Given the description of an element on the screen output the (x, y) to click on. 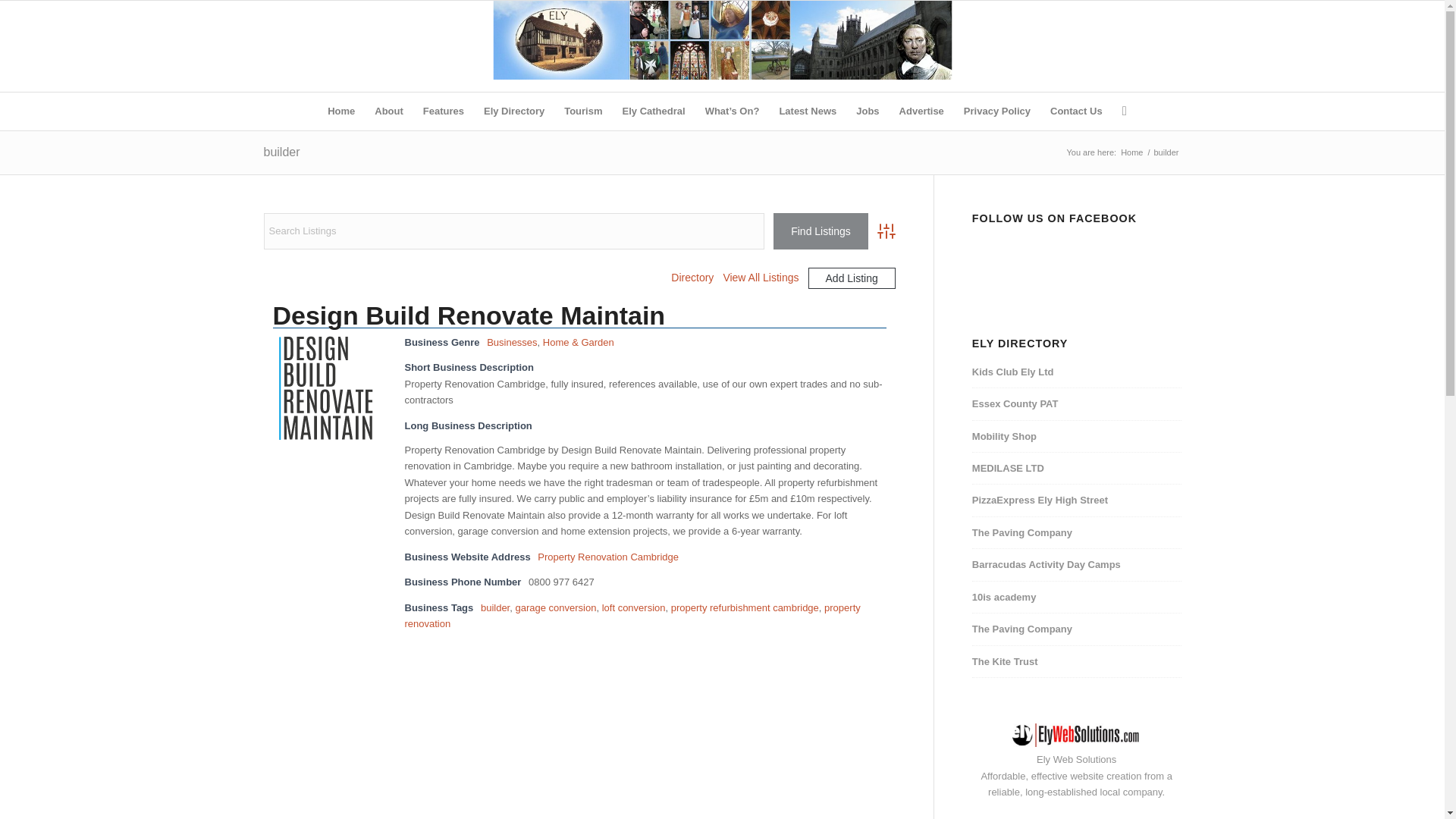
About (389, 111)
Permanent Link: builder (281, 151)
Ely Online - Ely, Cambs. UK (1131, 152)
Features (443, 111)
Quick search keywords (514, 230)
Find Listings (820, 230)
Design Build Renovate Maintain (325, 387)
Home (341, 111)
Property Renovation Cambridge (607, 556)
